Given the description of an element on the screen output the (x, y) to click on. 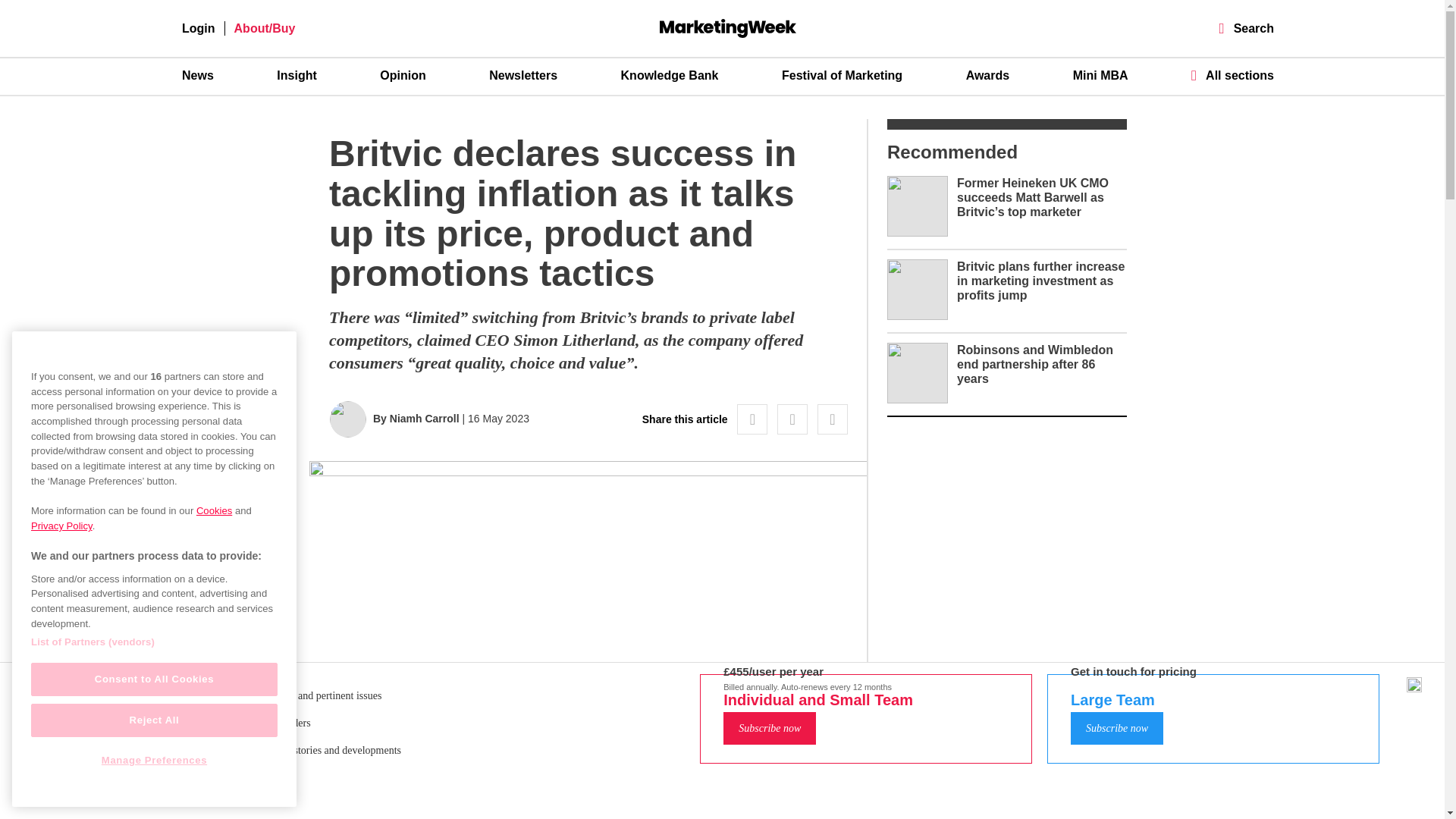
Insight (295, 75)
News (198, 75)
Opinion (402, 75)
Newsletters (523, 75)
Search (1247, 28)
Niamh Carroll (425, 418)
Festival of Marketing (841, 75)
Posts by Niamh Carroll (425, 418)
All sections (1232, 74)
Mini MBA (1100, 75)
Awards (988, 75)
Knowledge Bank (670, 75)
All sections (1232, 74)
Search (1247, 28)
